Given the description of an element on the screen output the (x, y) to click on. 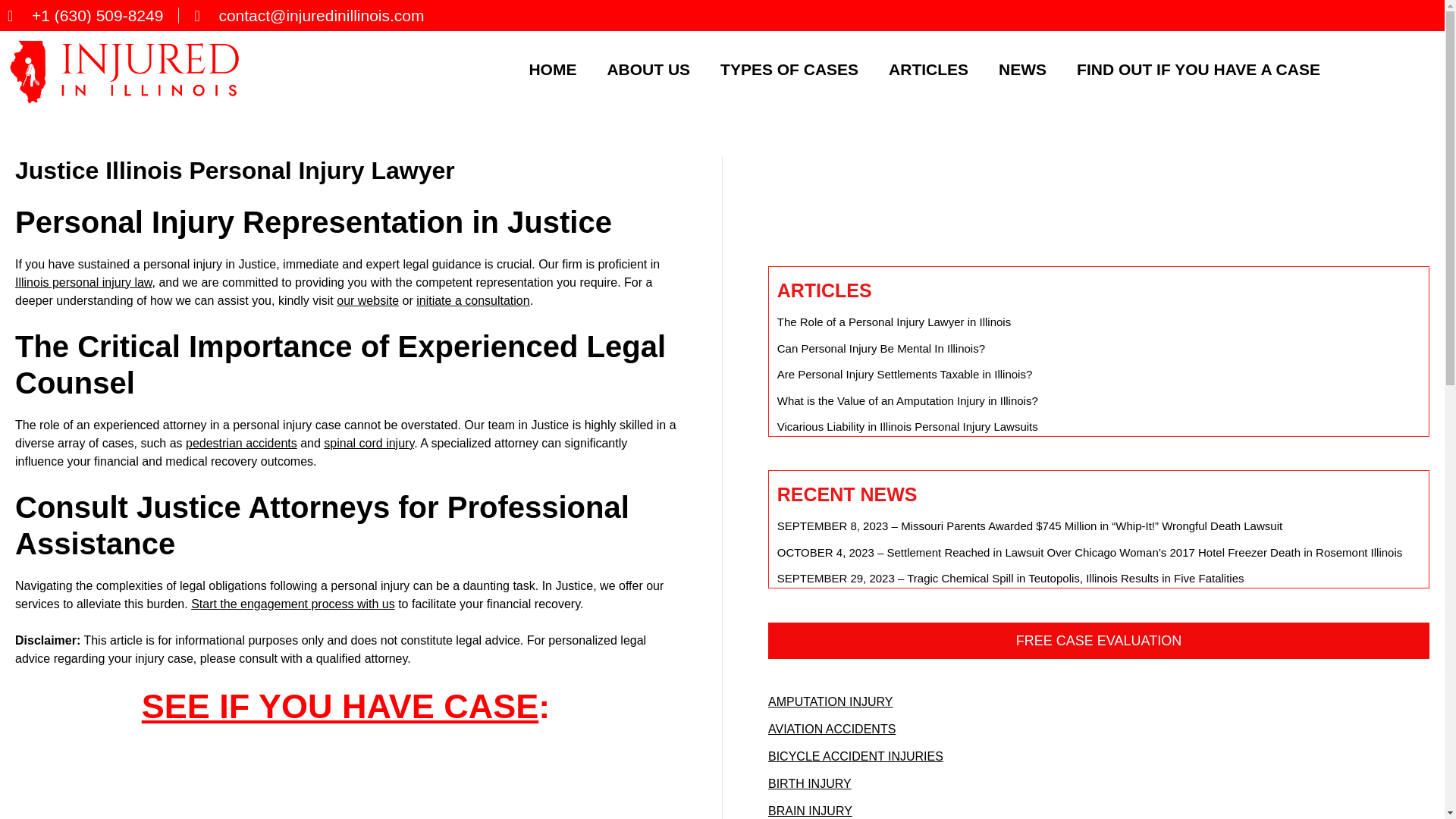
FIND OUT IF YOU HAVE A CASE (1198, 68)
NEWS (1022, 68)
ABOUT US (647, 68)
TYPES OF CASES (788, 68)
HOME (552, 68)
ARTICLES (928, 68)
